Given the description of an element on the screen output the (x, y) to click on. 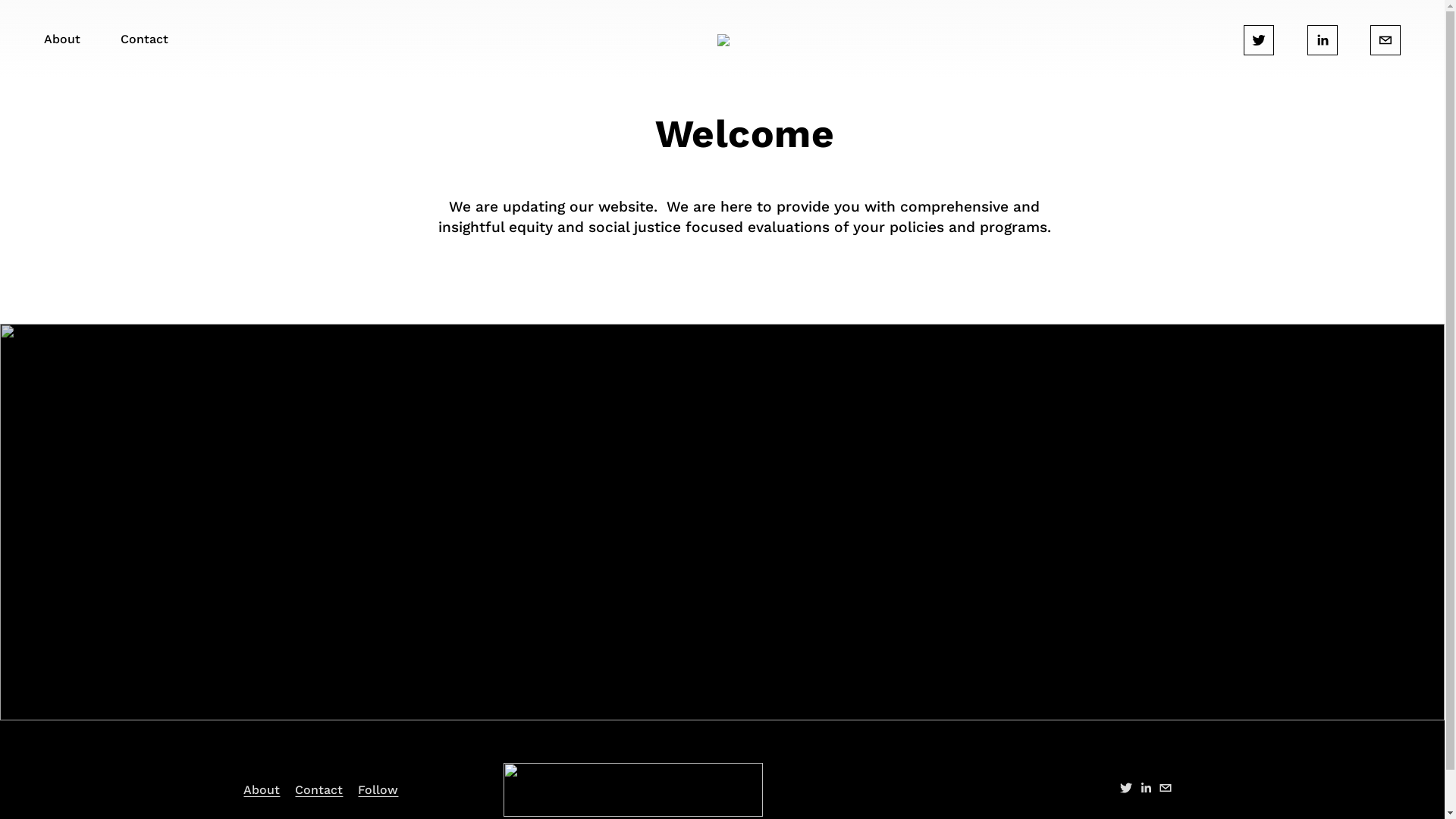
Contact Element type: text (144, 40)
Follow Element type: text (377, 789)
About Element type: text (61, 40)
About Element type: text (261, 789)
Contact Element type: text (318, 789)
